Given the description of an element on the screen output the (x, y) to click on. 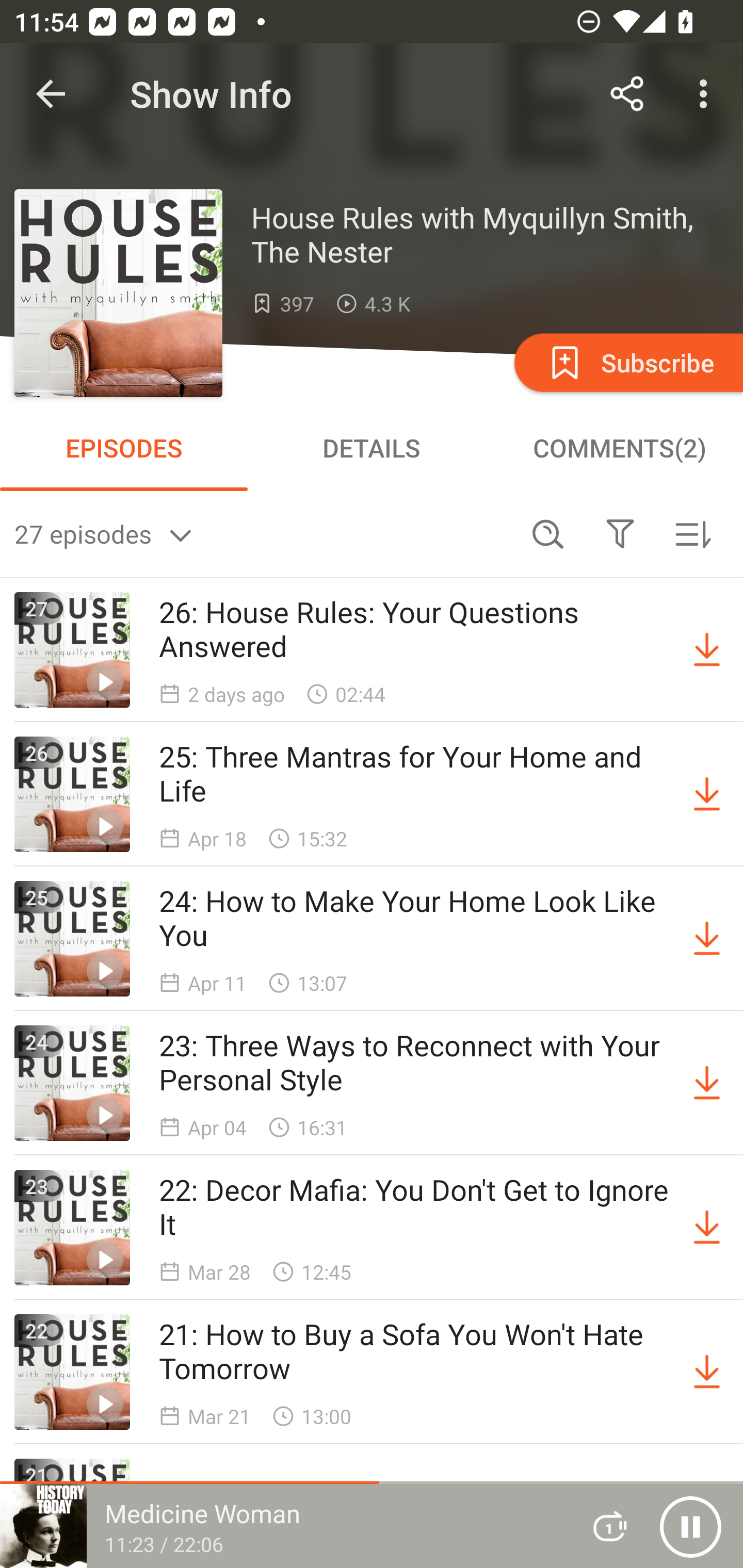
Navigate up (50, 93)
Share (626, 93)
More options (706, 93)
Subscribe (627, 361)
EPISODES (123, 447)
DETAILS (371, 447)
COMMENTS(2) (619, 447)
27 episodes  (262, 533)
 Search (547, 533)
 (619, 533)
 Sorted by newest first (692, 533)
Download (706, 649)
Download (706, 793)
Download (706, 939)
Download (706, 1083)
Download (706, 1227)
Download (706, 1371)
Medicine Woman 11:23 / 22:06 (283, 1525)
Pause (690, 1526)
